Given the description of an element on the screen output the (x, y) to click on. 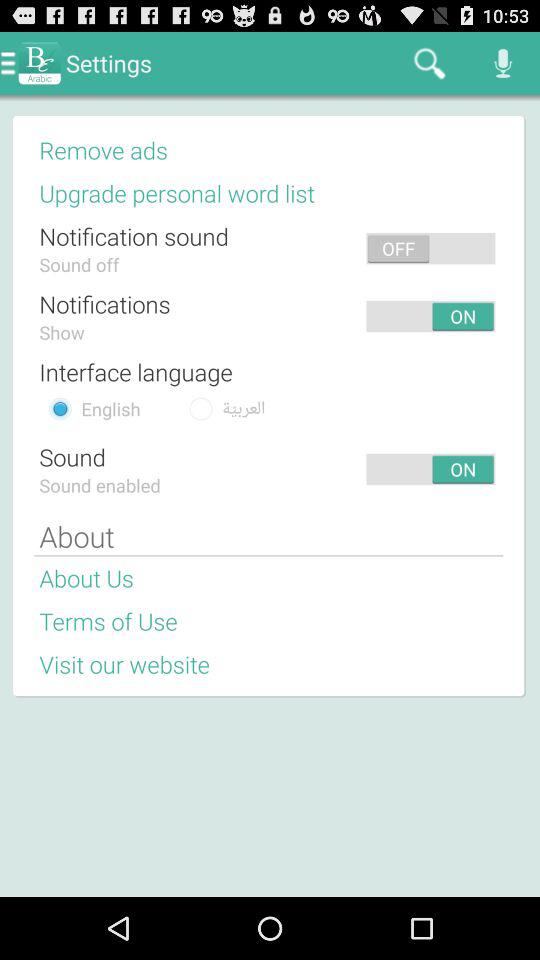
jump until interface language (135, 371)
